Given the description of an element on the screen output the (x, y) to click on. 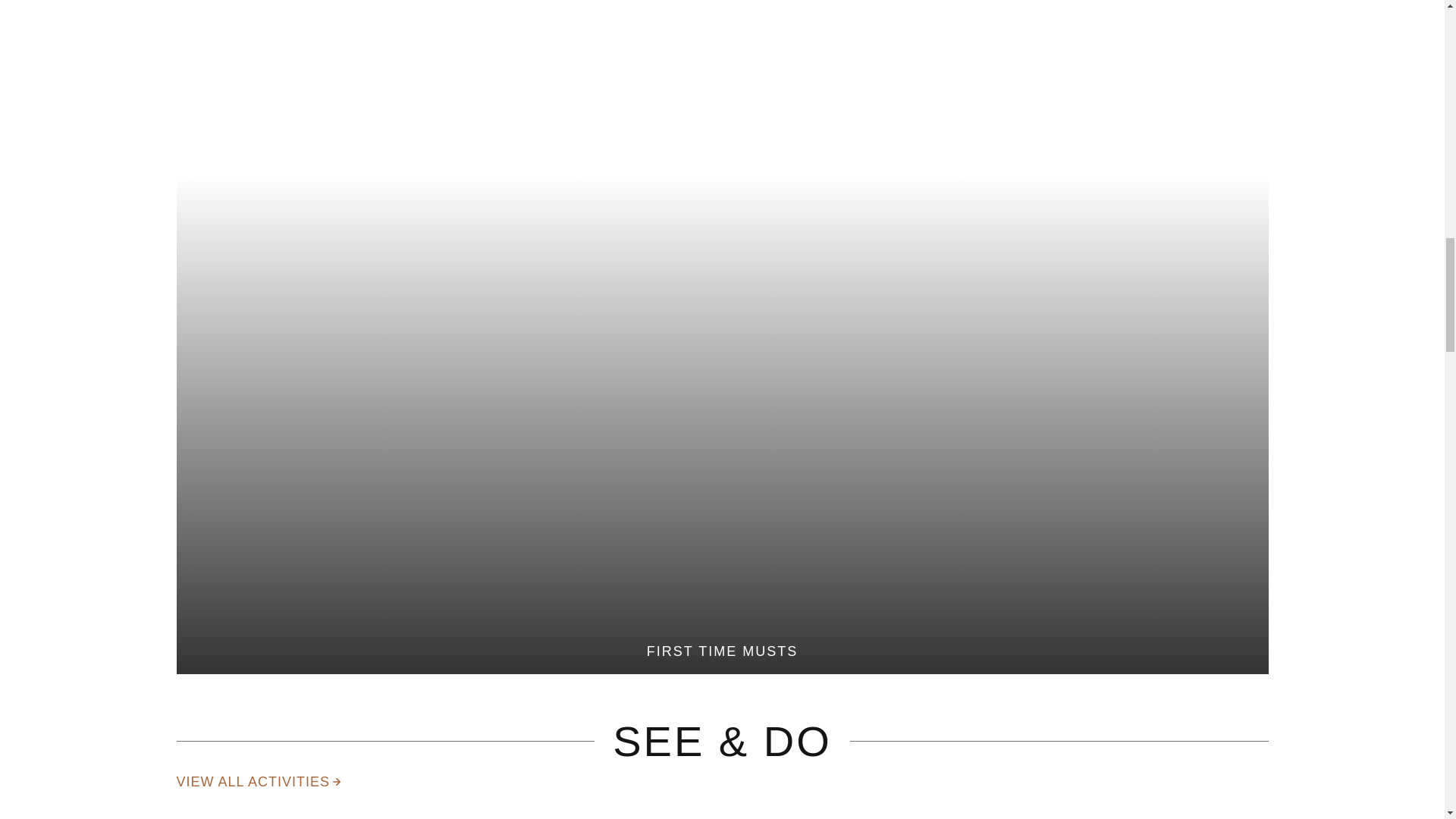
VIEW ALL ACTIVITIES (257, 782)
